Given the description of an element on the screen output the (x, y) to click on. 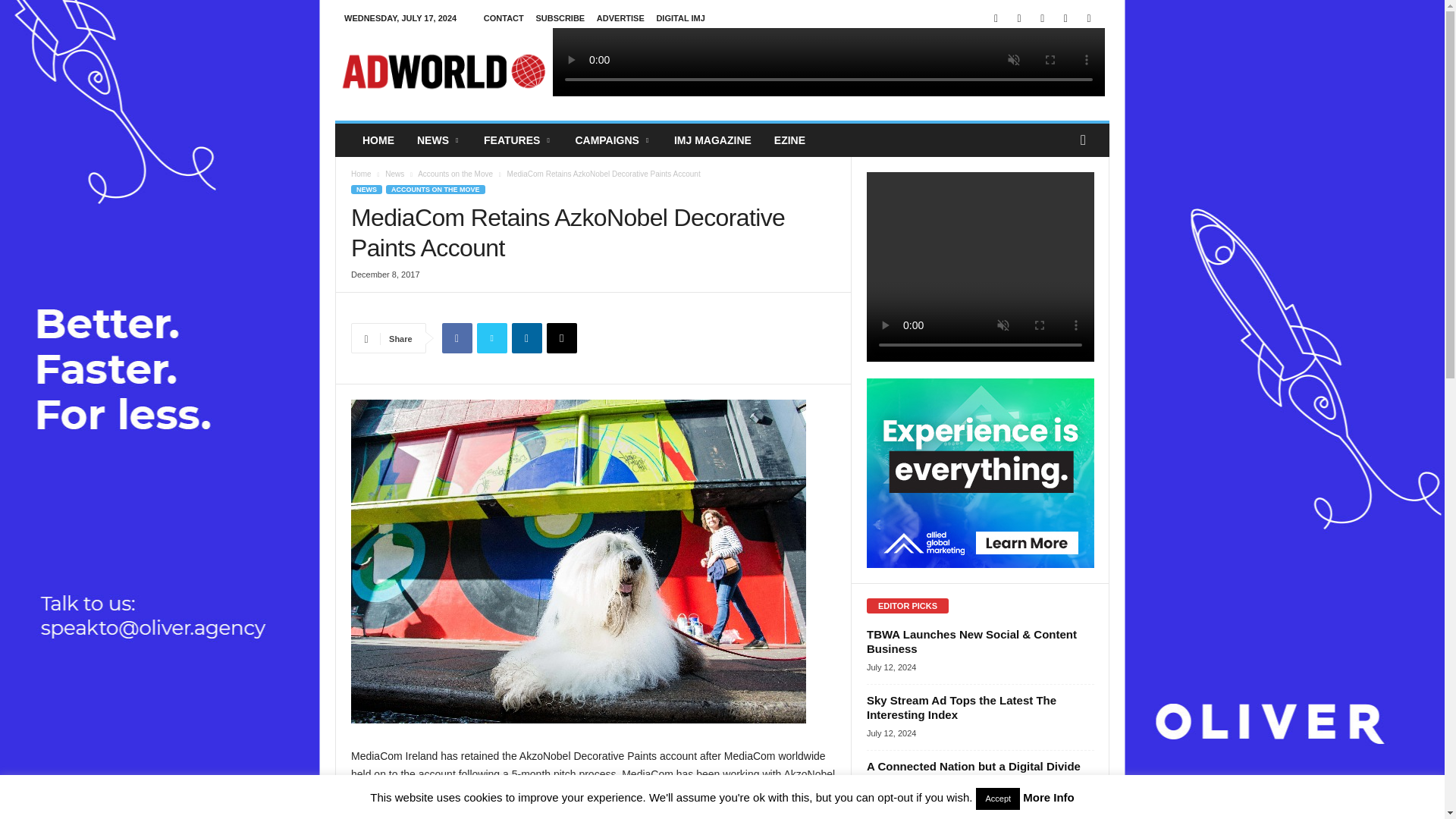
Adworld Logo (442, 71)
NEWS (438, 140)
DIGITAL IMJ (680, 17)
AdWorld.ie (442, 70)
CONTACT (503, 17)
SUBSCRIBE (560, 17)
HOME (378, 140)
ADVERTISE (620, 17)
